Given the description of an element on the screen output the (x, y) to click on. 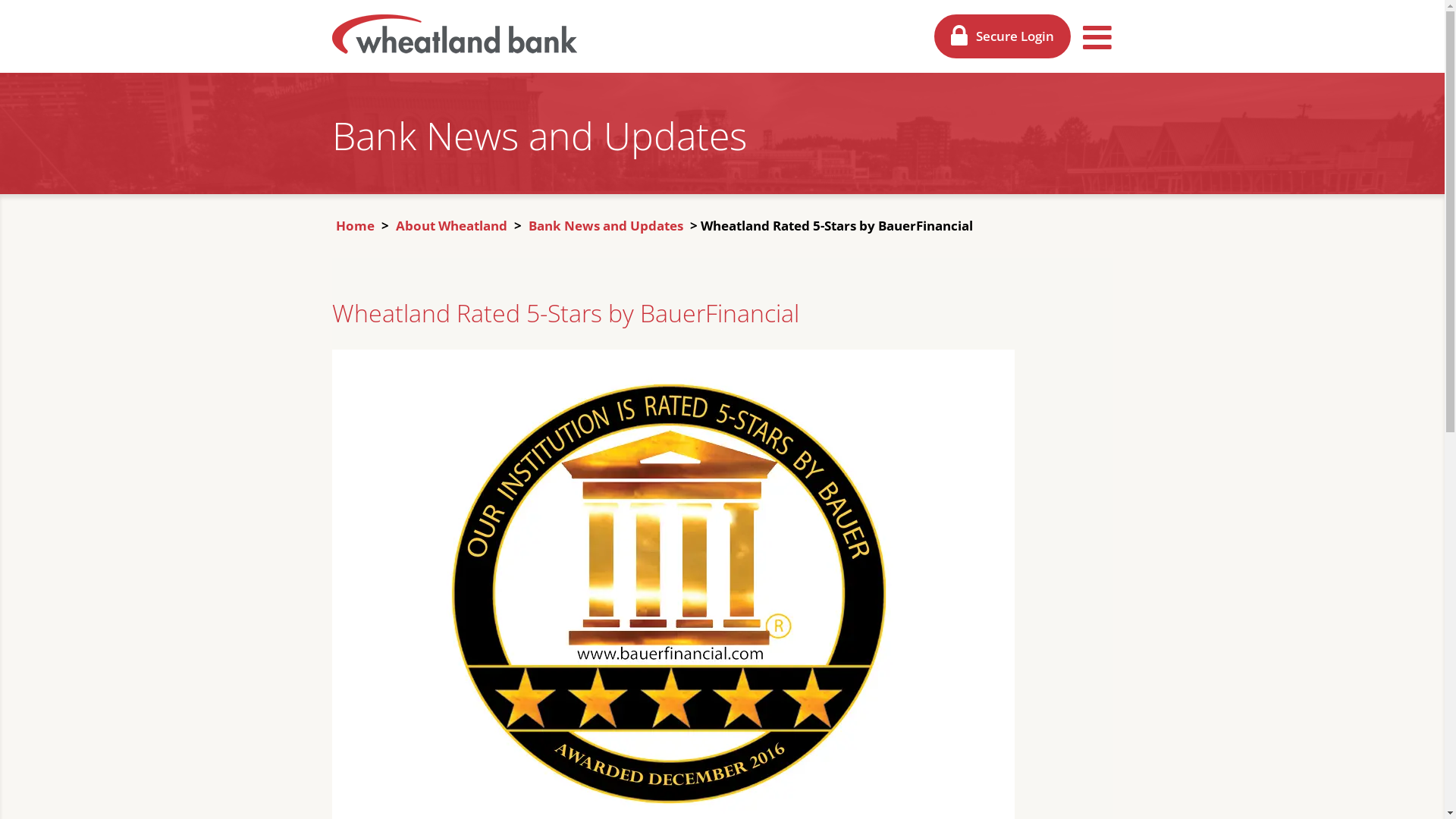
Home Element type: text (355, 225)
Secure Login Element type: text (1002, 36)
About Wheatland Element type: text (450, 225)
Bank News and Updates Element type: text (605, 225)
Wheatland Bank Element type: hover (454, 34)
